Given the description of an element on the screen output the (x, y) to click on. 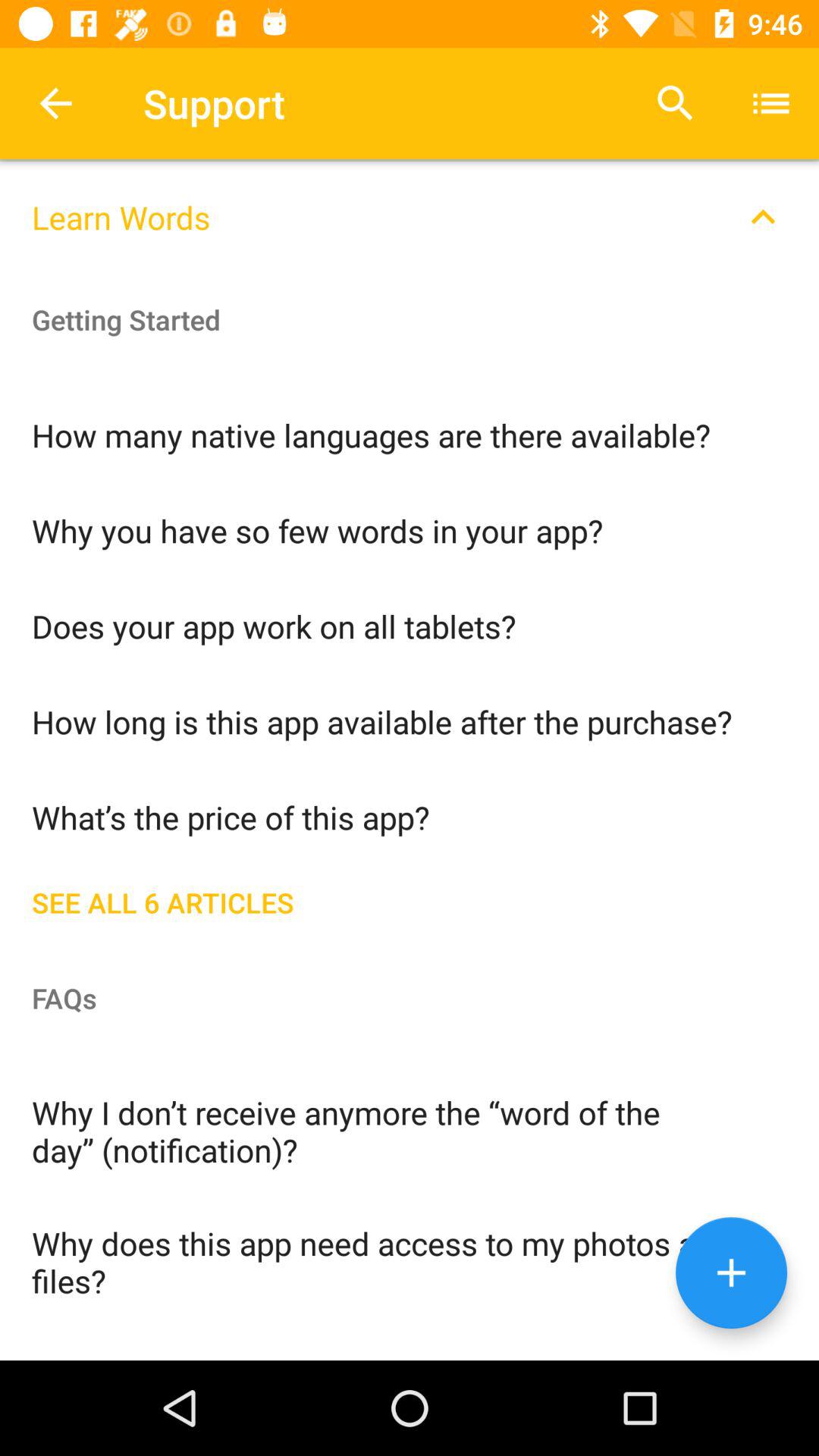
scroll to i can t item (409, 1343)
